Given the description of an element on the screen output the (x, y) to click on. 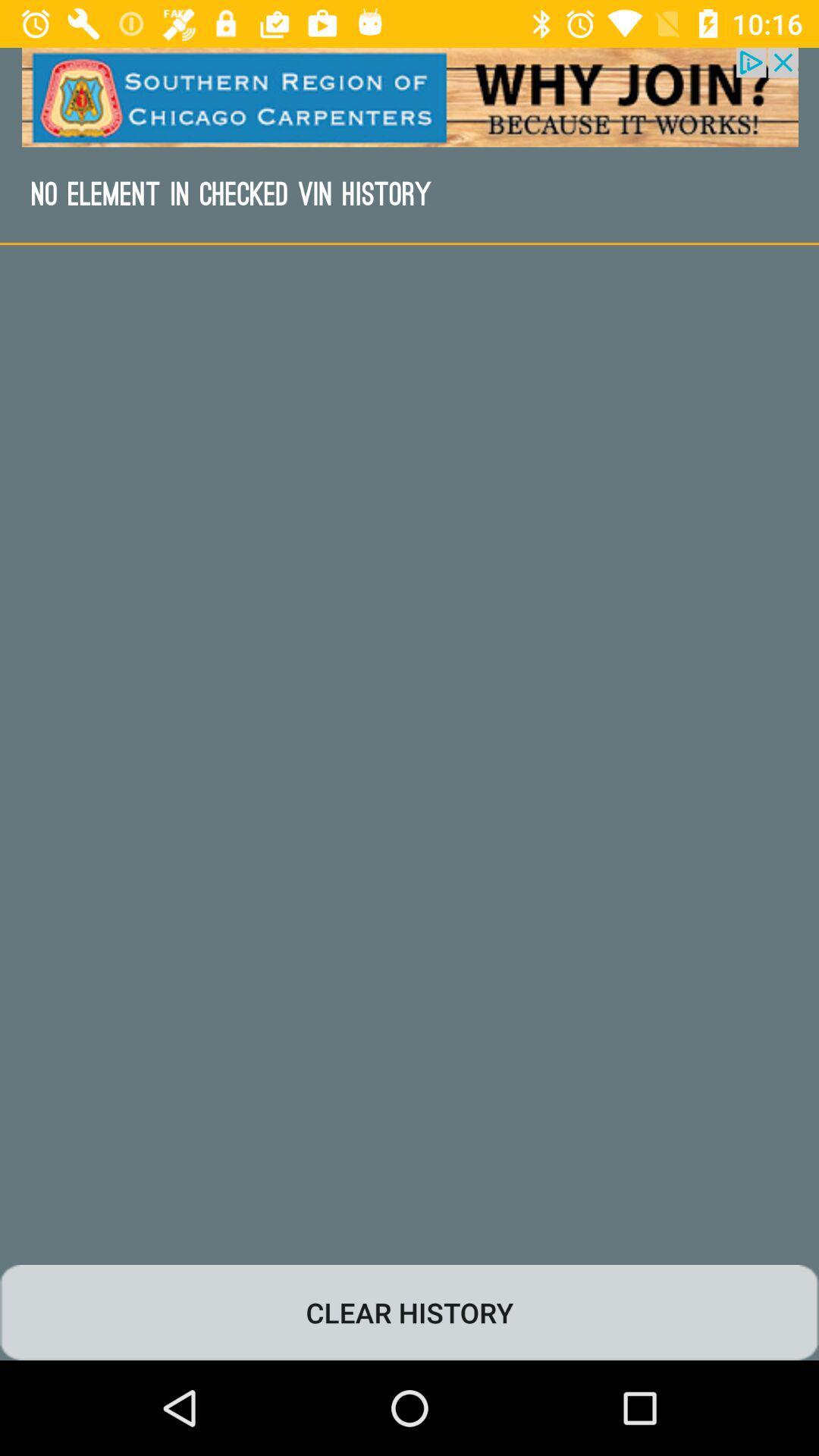
advertisement page (409, 97)
